Given the description of an element on the screen output the (x, y) to click on. 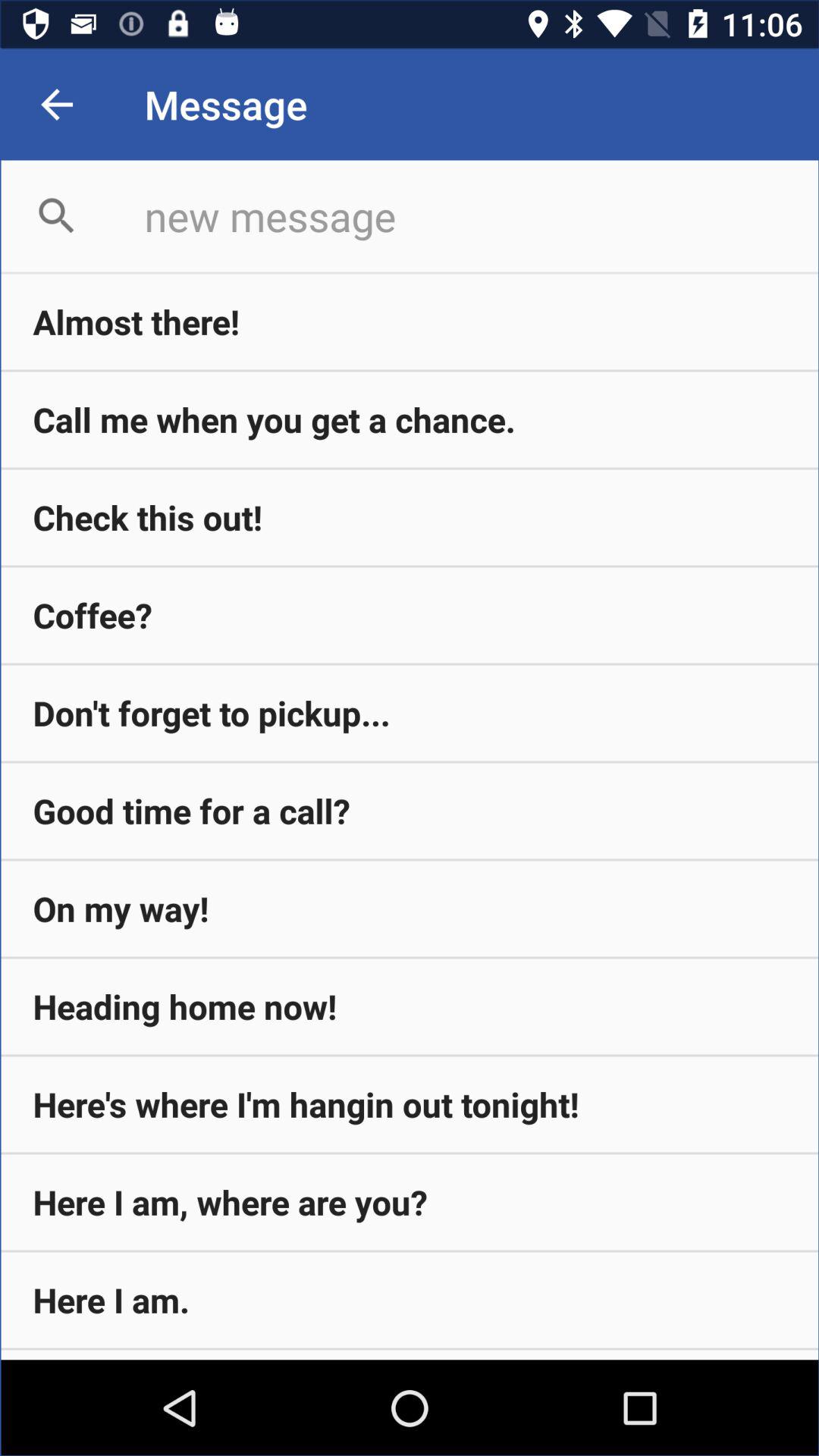
select icon above the call me when (409, 321)
